Given the description of an element on the screen output the (x, y) to click on. 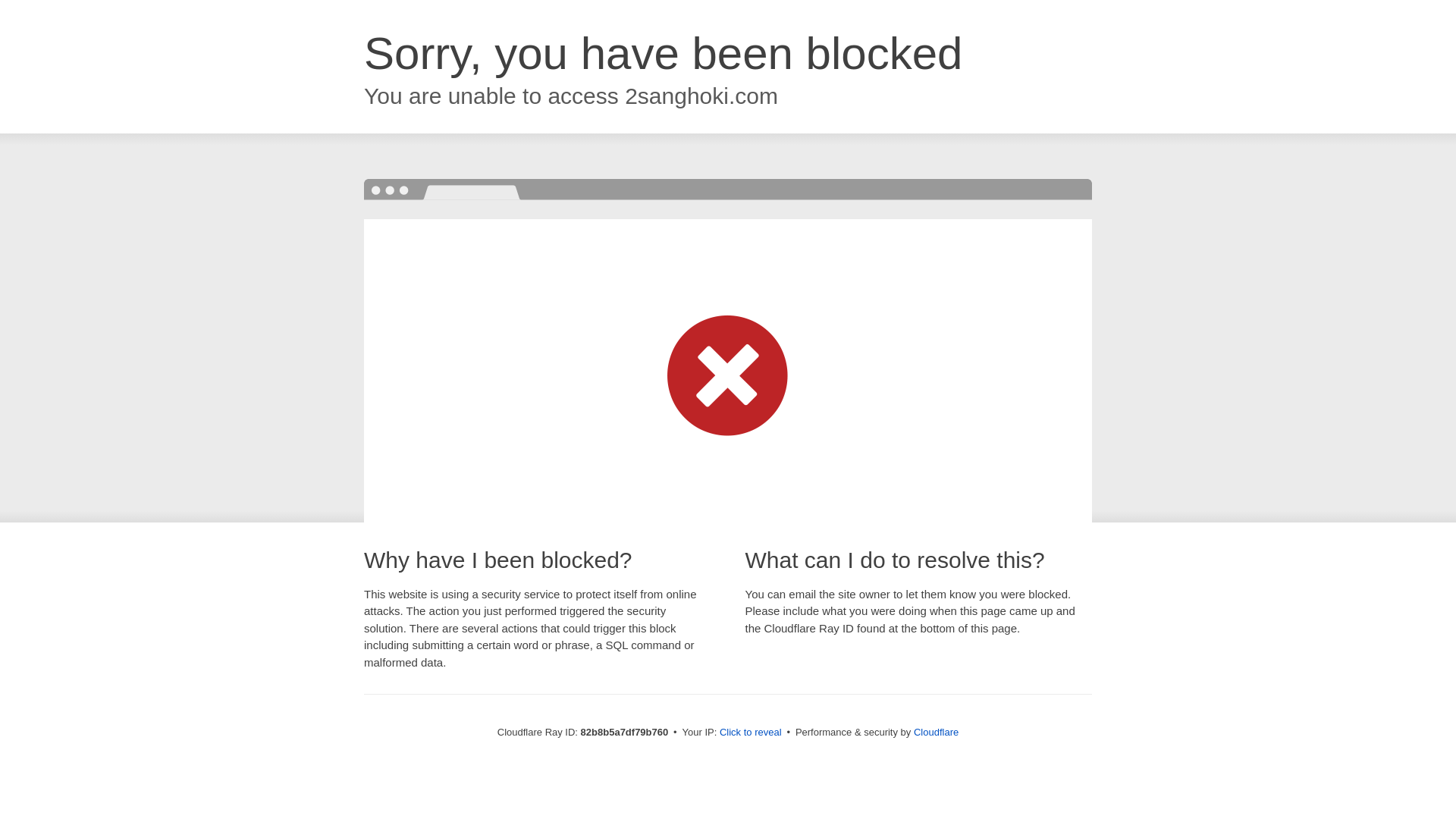
Click to reveal Element type: text (750, 732)
Cloudflare Element type: text (935, 731)
